Given the description of an element on the screen output the (x, y) to click on. 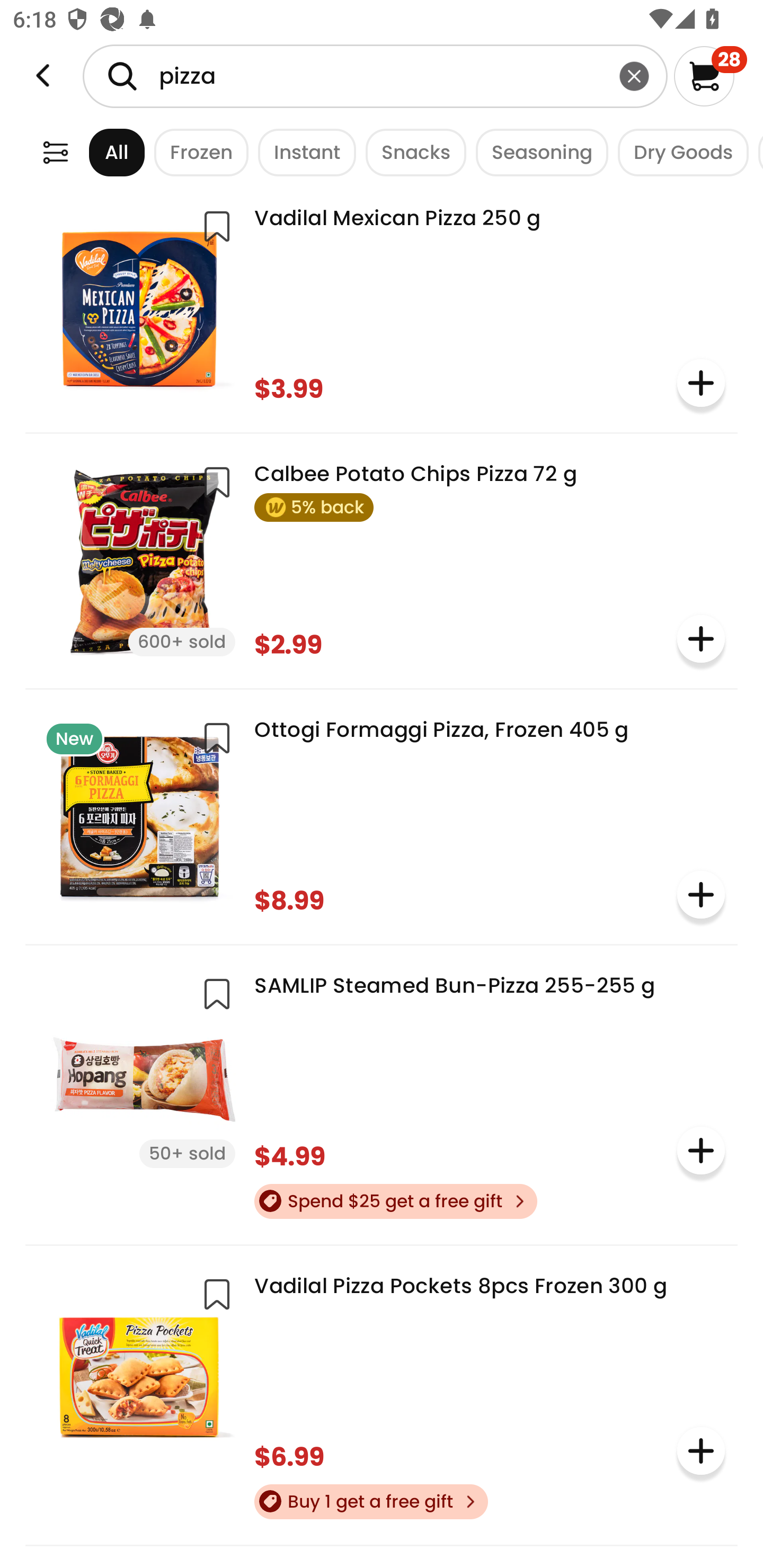
pizza (374, 75)
28 (709, 75)
Weee! (42, 76)
Weee! (55, 151)
All (99, 151)
Frozen (196, 151)
Instant (302, 151)
Snacks (411, 151)
Seasoning (537, 151)
Dry Goods (678, 151)
Vadilal Mexican Pizza 250 g $3.99 (381, 304)
New Ottogi Formaggi Pizza, Frozen 405 g $8.99 (381, 815)
